Given the description of an element on the screen output the (x, y) to click on. 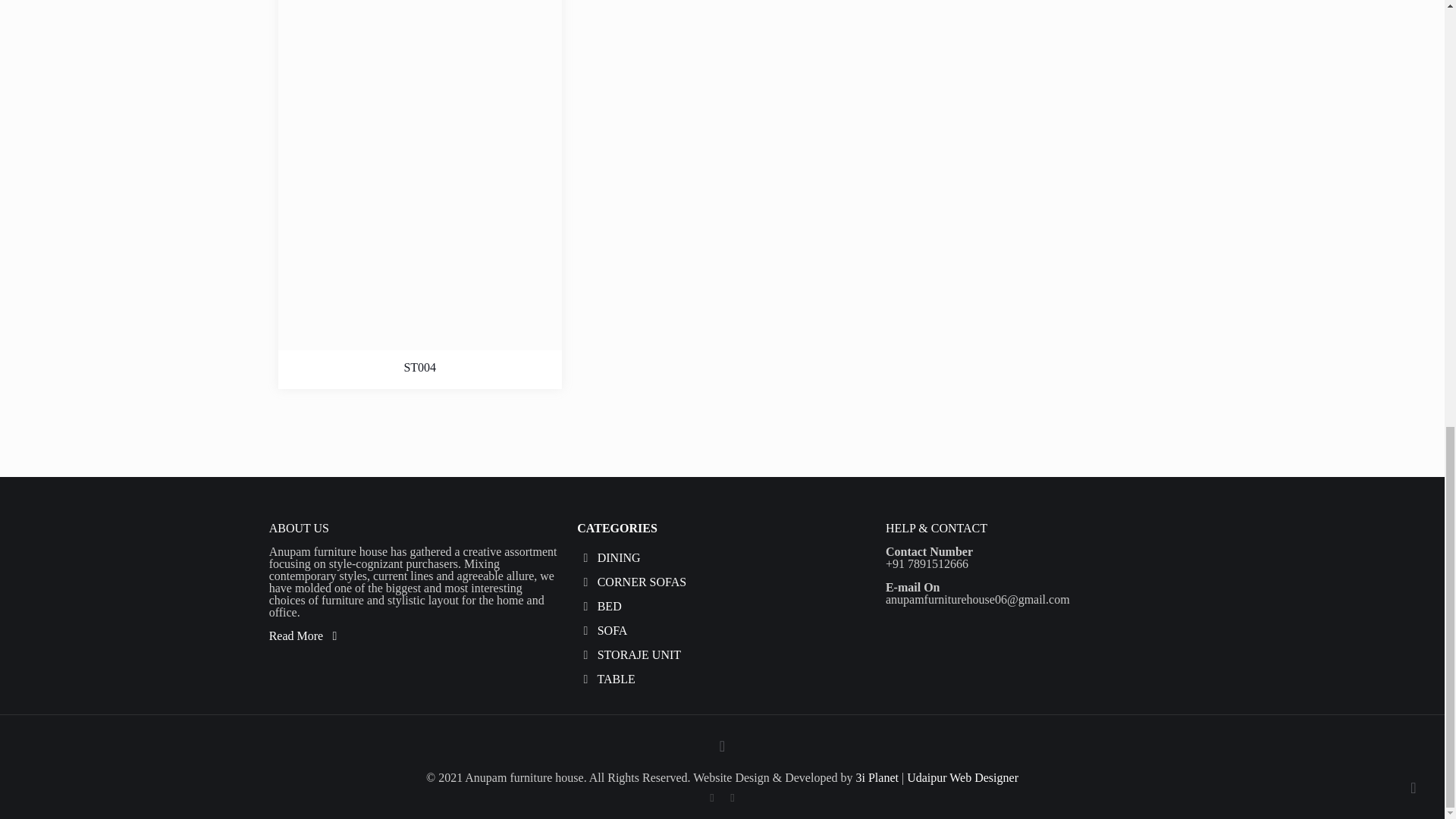
Instagram (731, 797)
Facebook (711, 797)
